Given the description of an element on the screen output the (x, y) to click on. 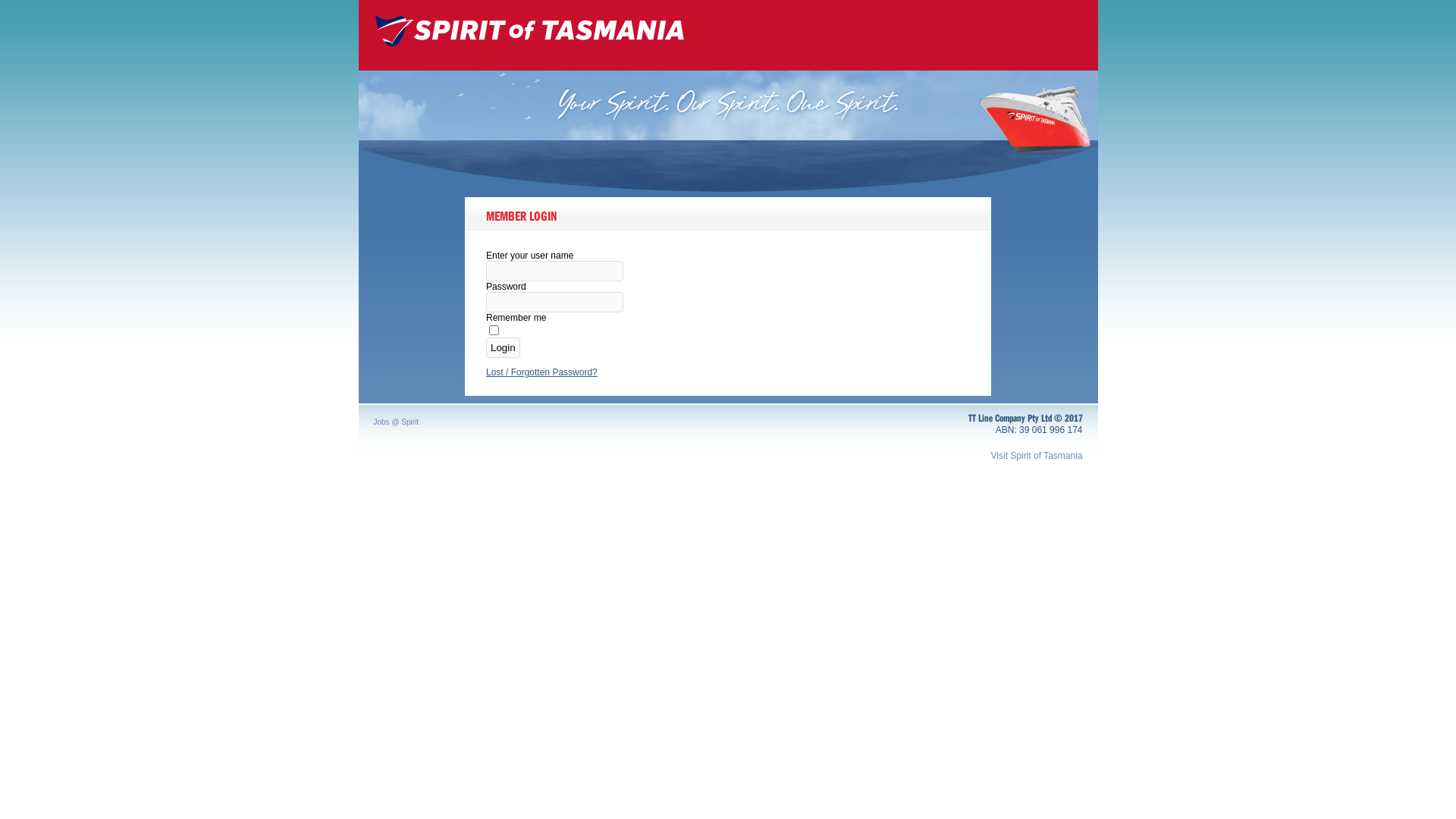
Jobs @ Spirit Element type: text (395, 421)
Visit Spirit of Tasmania Element type: text (994, 455)
Login Element type: text (503, 347)
Lost / Forgotten Password? Element type: text (541, 372)
